Given the description of an element on the screen output the (x, y) to click on. 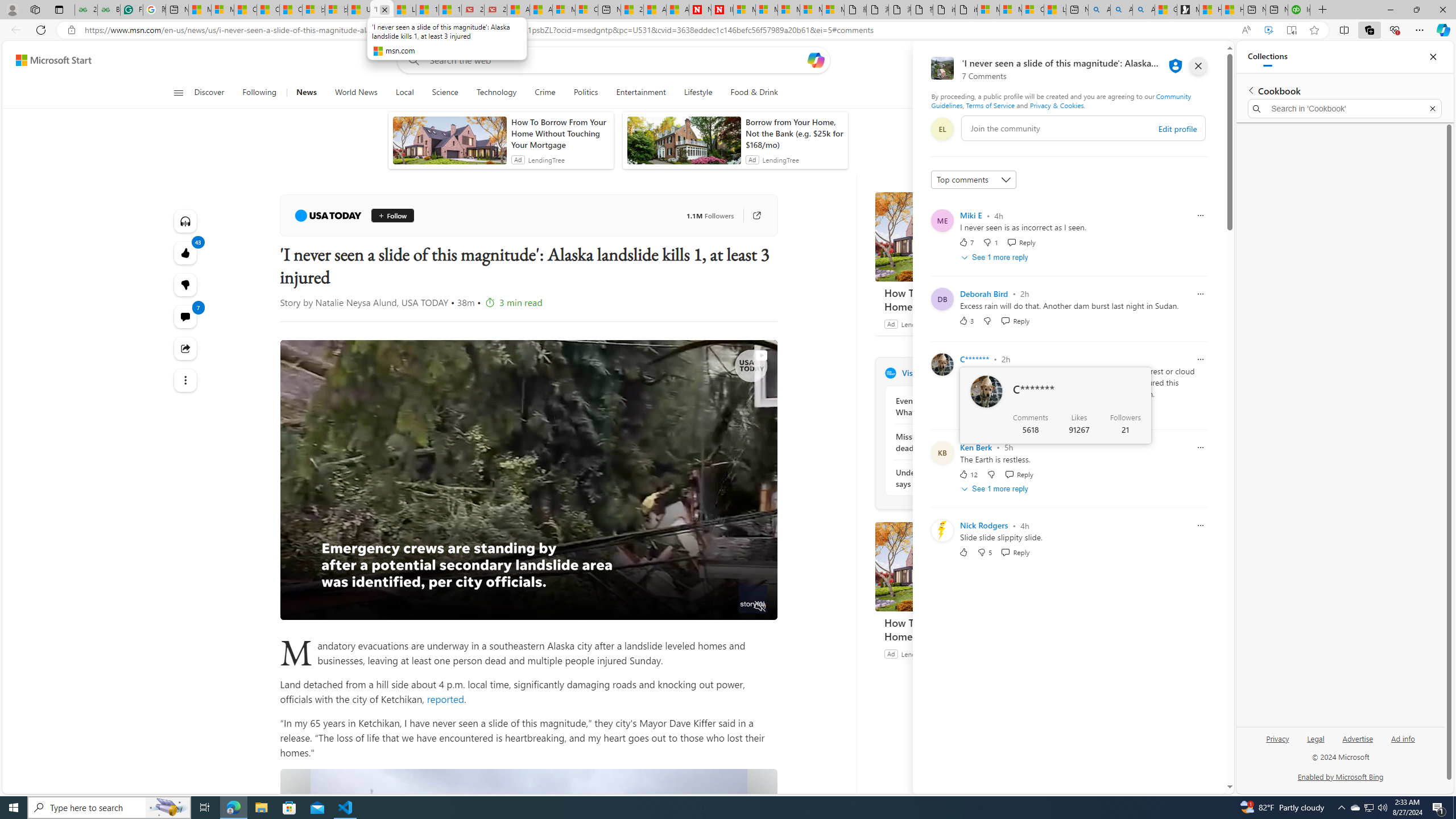
itconcepthk.com/projector_solutions.mp4 (966, 9)
Enter your search term (617, 59)
